Given the description of an element on the screen output the (x, y) to click on. 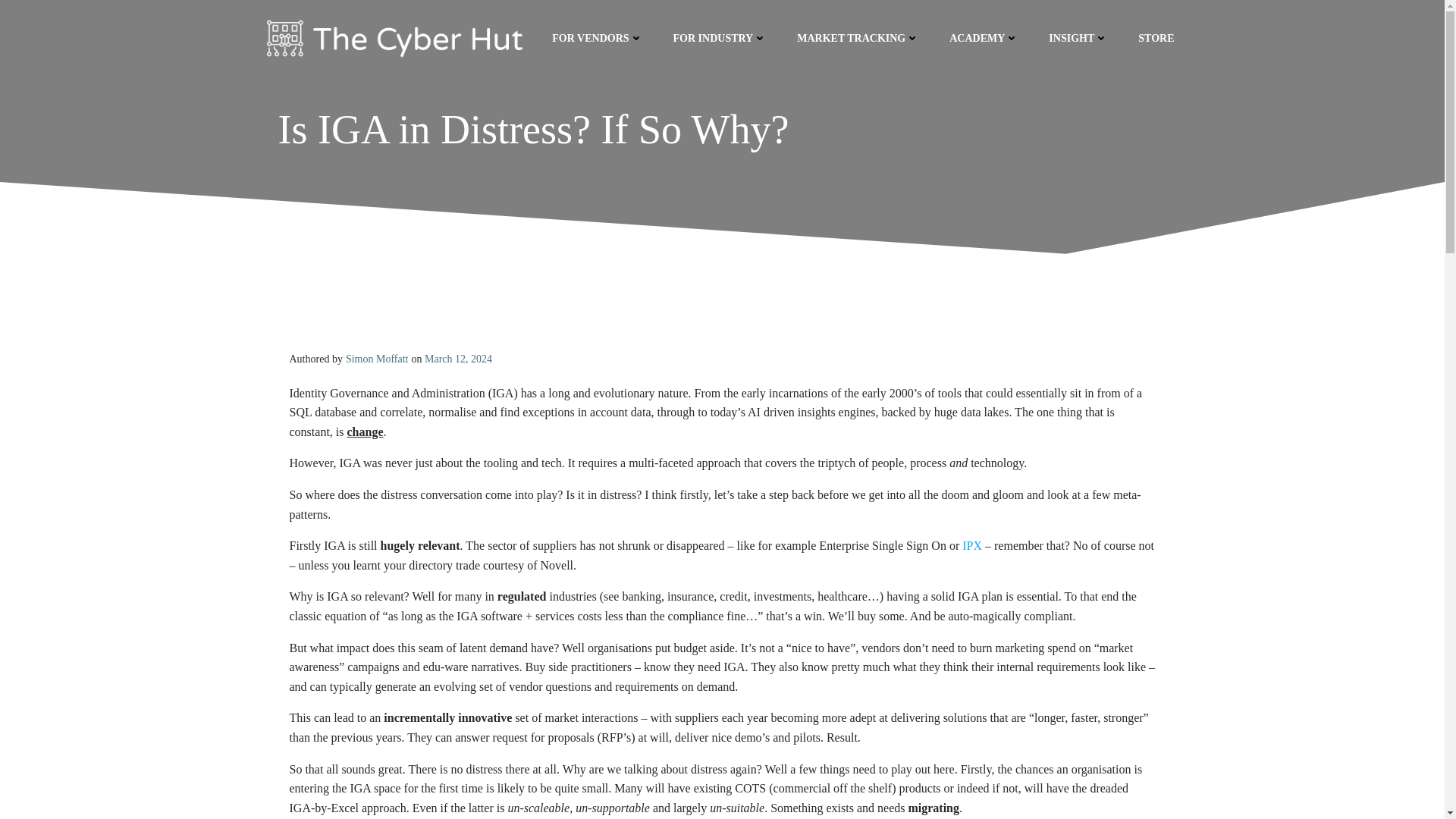
FOR INDUSTRY (719, 37)
INSIGHT (1078, 37)
STORE (1155, 37)
FOR VENDORS (596, 37)
ACADEMY (983, 37)
MARKET TRACKING (857, 37)
